Given the description of an element on the screen output the (x, y) to click on. 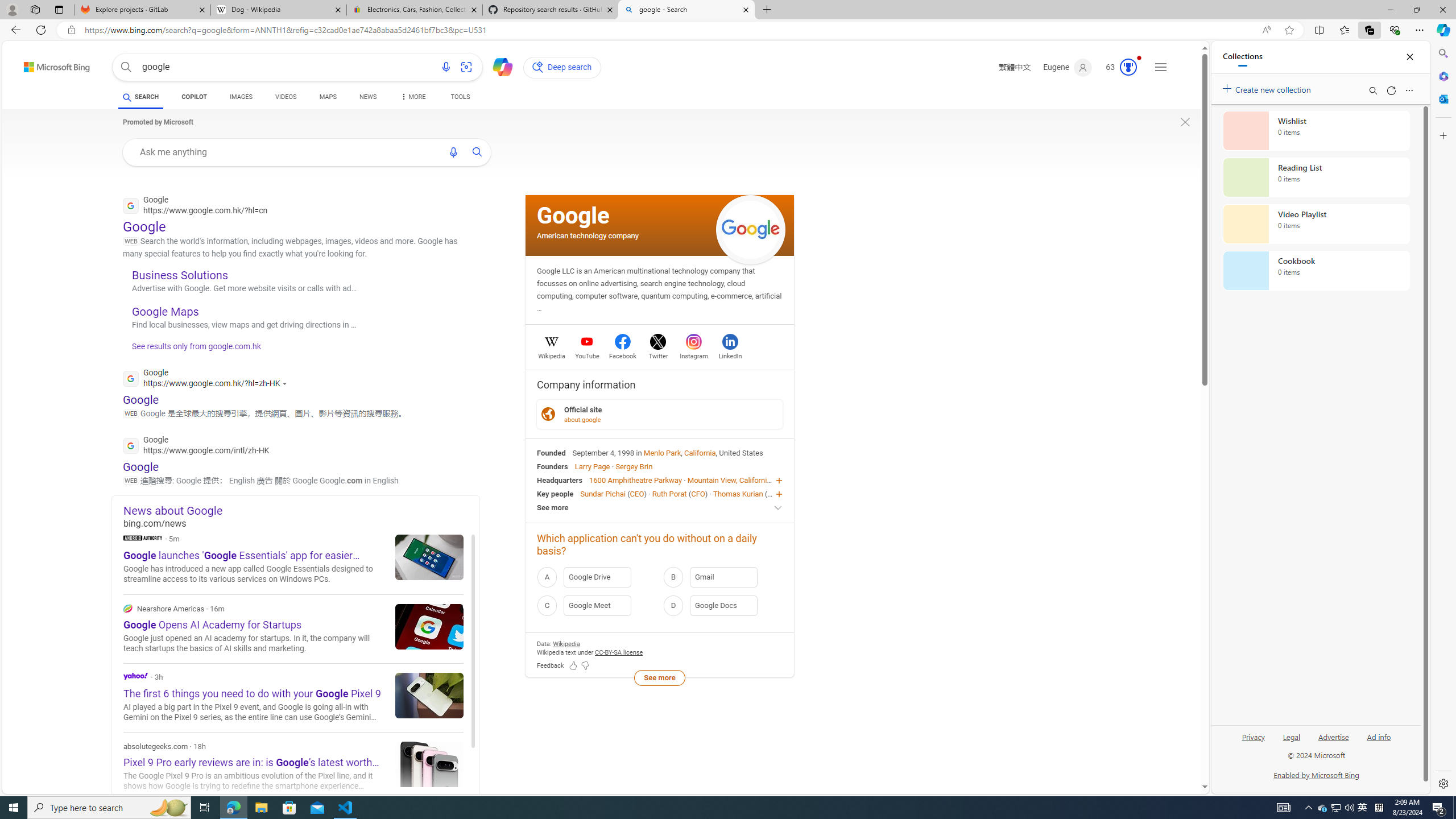
MAPS (327, 96)
Wikipedia (551, 354)
AutomationID: uaseabtn (478, 151)
Settings and quick links (1160, 67)
Global web icon (130, 445)
absolutegeeks.com (293, 766)
AutomationID: mfa_root (1161, 752)
Legal (1291, 736)
MORE (412, 98)
News about Google (301, 510)
